Given the description of an element on the screen output the (x, y) to click on. 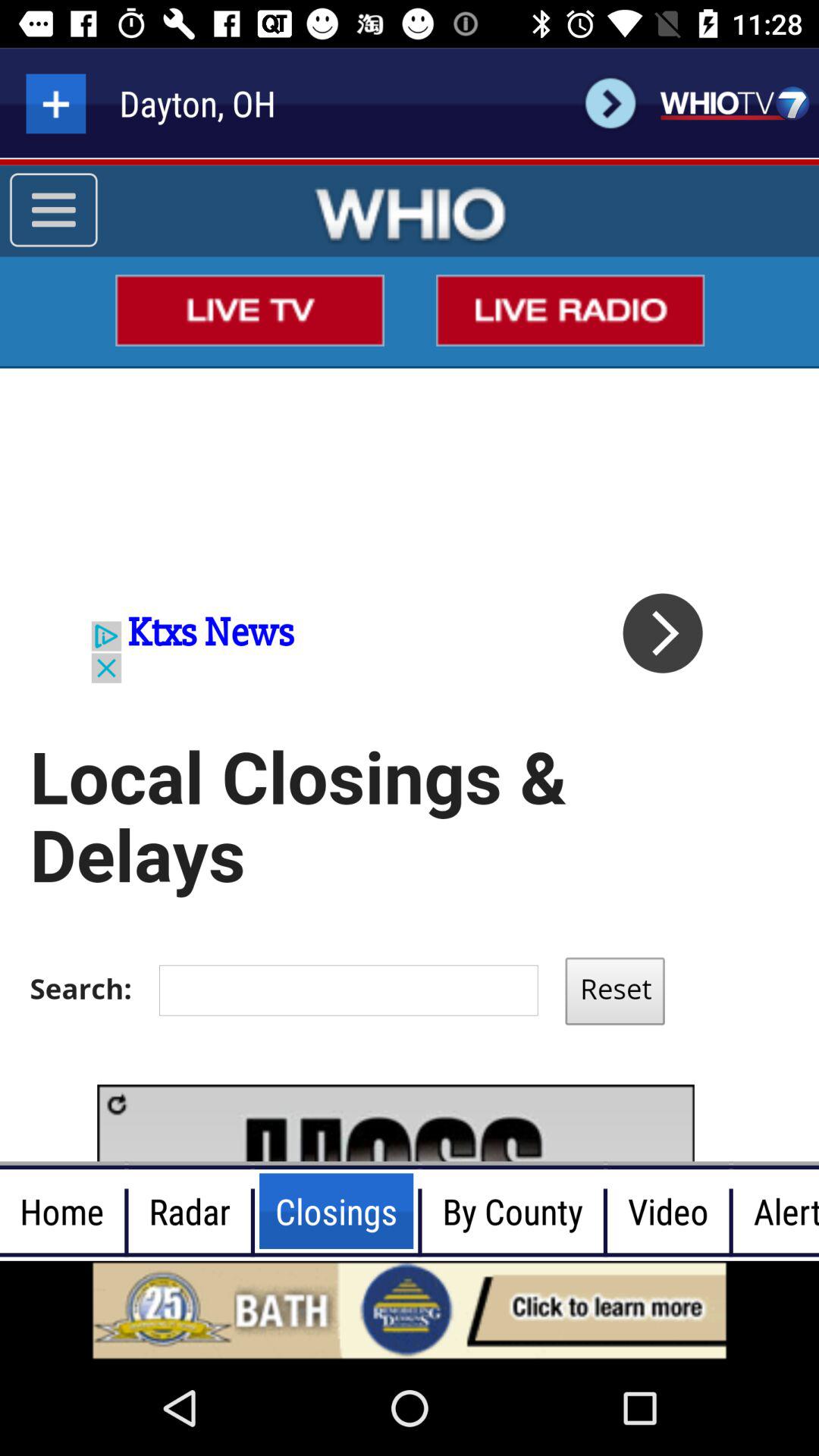
add the new tab (55, 103)
